Given the description of an element on the screen output the (x, y) to click on. 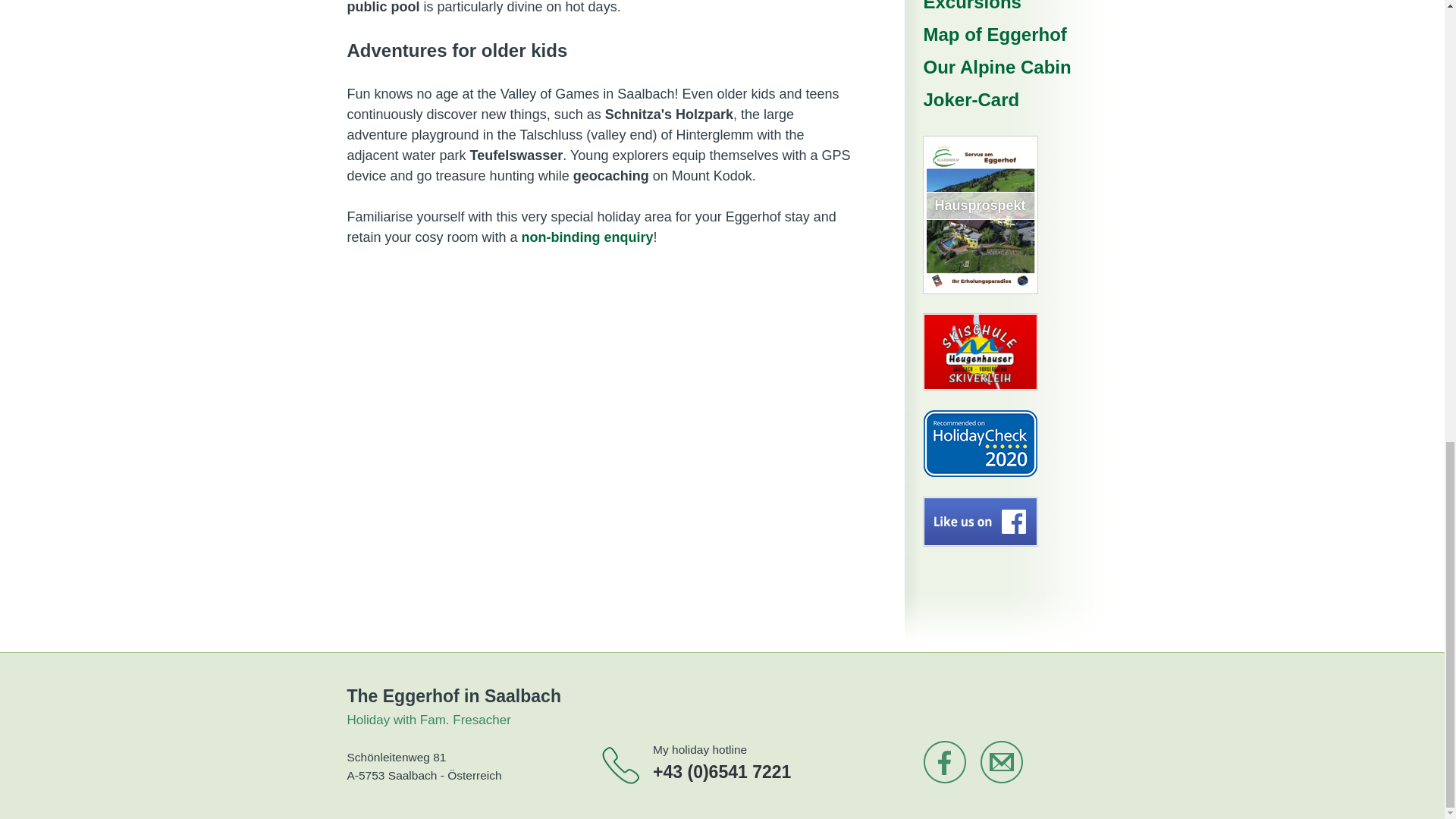
Mail (1000, 761)
Non-binding holiday enquiry (587, 237)
Facebook (944, 761)
